Given the description of an element on the screen output the (x, y) to click on. 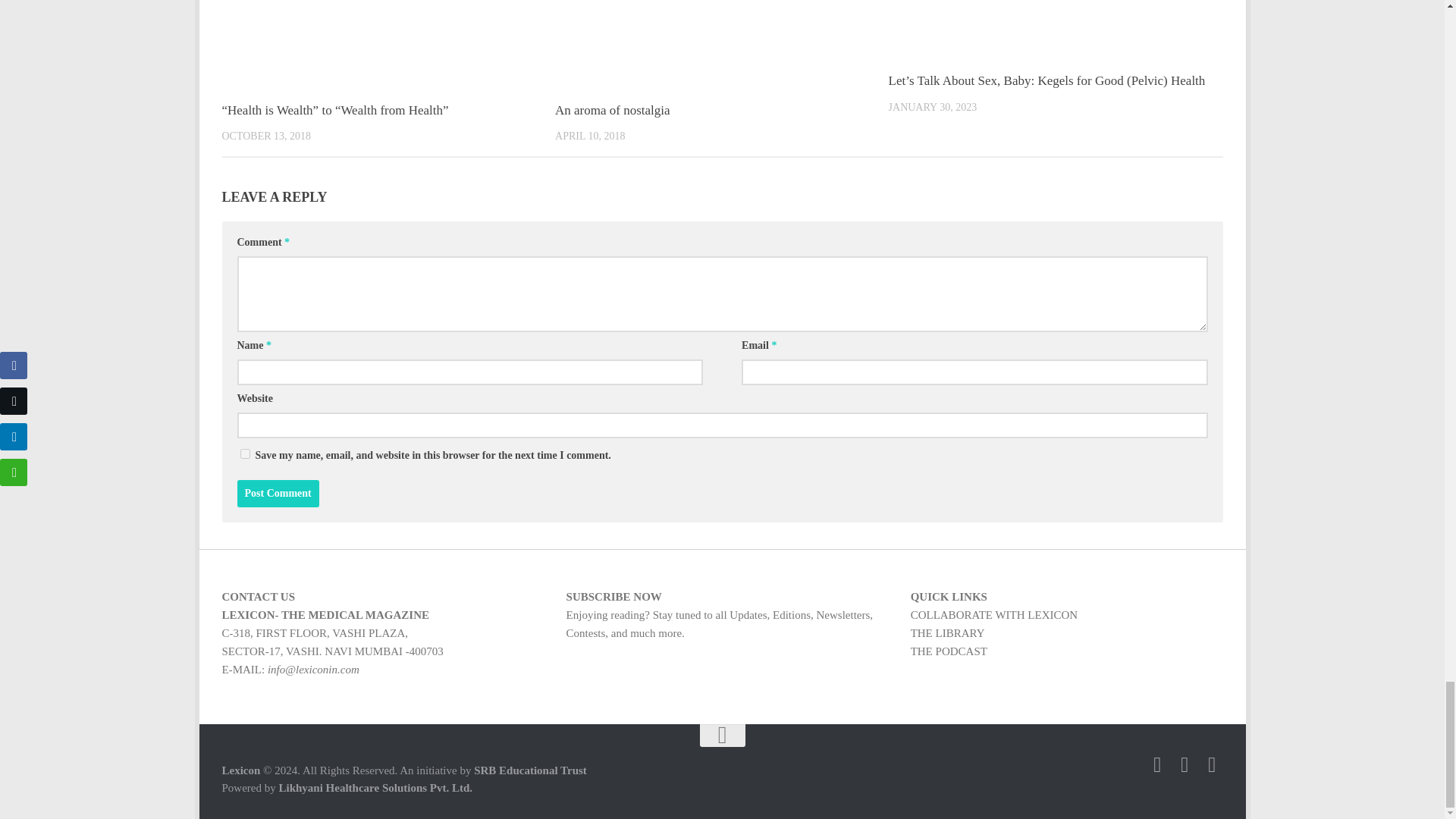
Follow us on Instagram (1157, 764)
Post Comment (276, 492)
Follow us on Spotify (1212, 764)
Follow us on Facebook (1184, 764)
yes (244, 453)
